Given the description of an element on the screen output the (x, y) to click on. 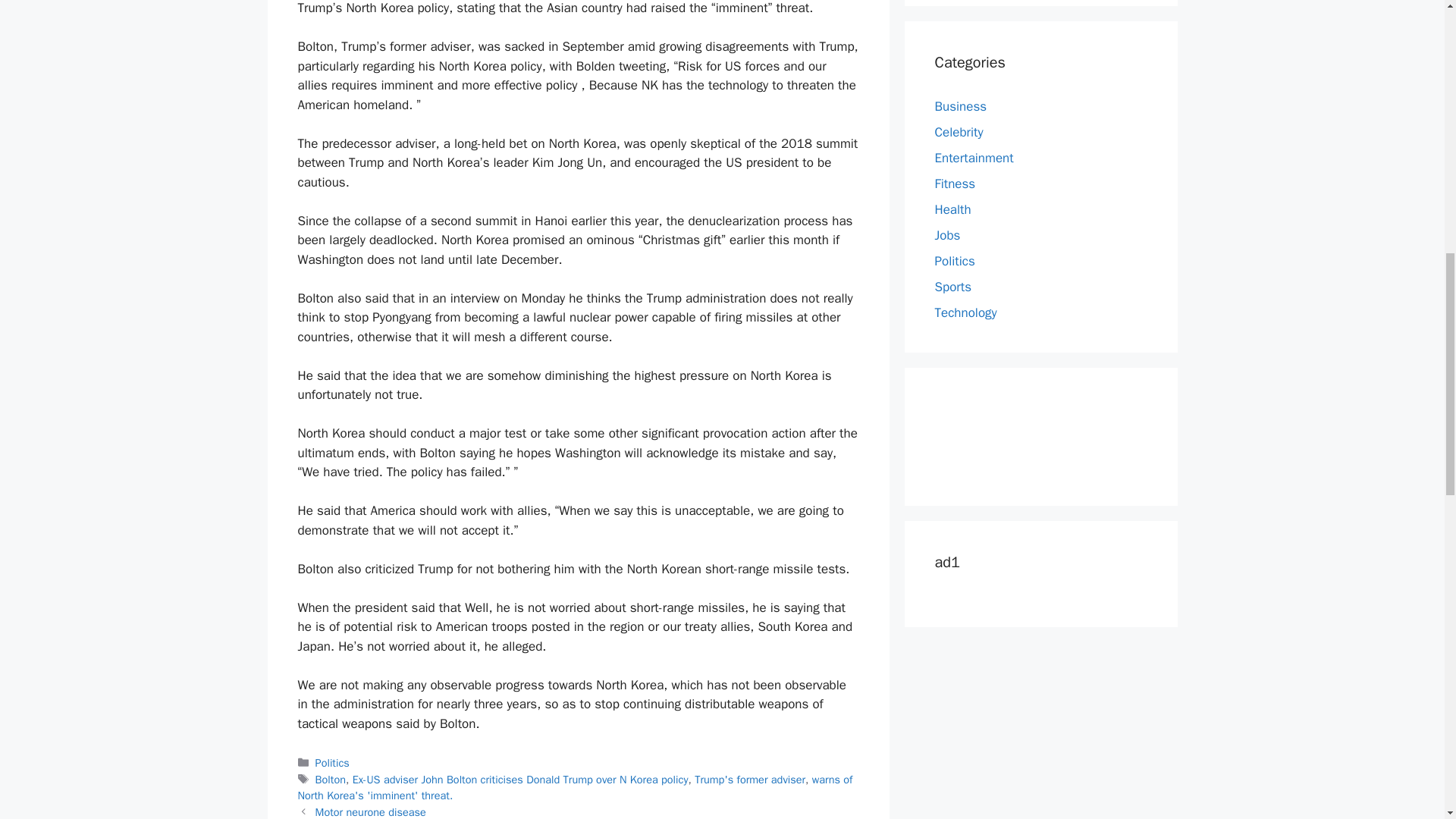
Health (952, 209)
Trump's former adviser (749, 779)
Celebrity (958, 132)
Motor neurone disease (370, 812)
Fitness (954, 183)
Politics (954, 261)
Jobs (946, 235)
Business (960, 106)
Technology (964, 312)
